Given the description of an element on the screen output the (x, y) to click on. 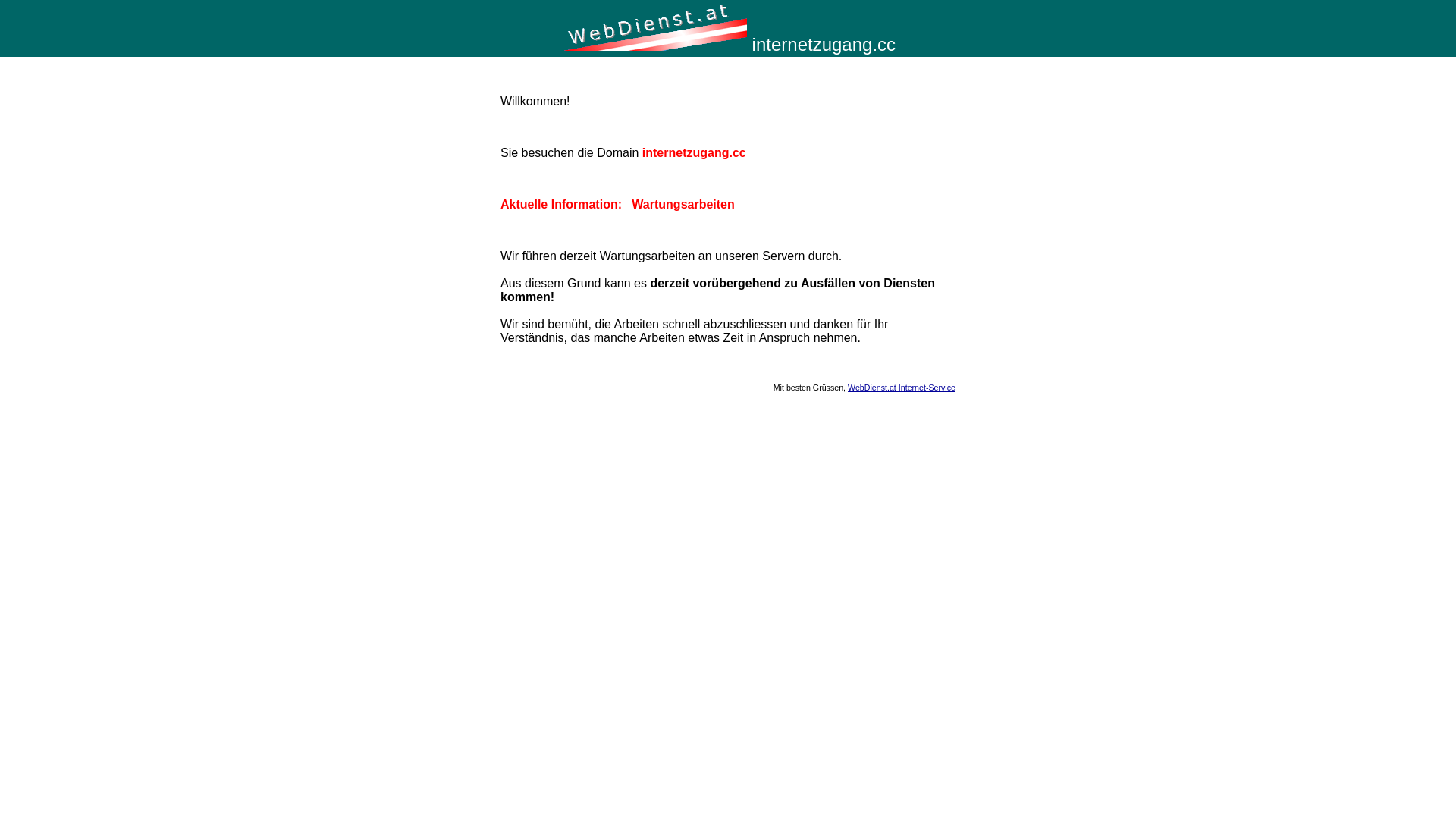
WebDienst.at Internet-Service Element type: text (901, 387)
